Given the description of an element on the screen output the (x, y) to click on. 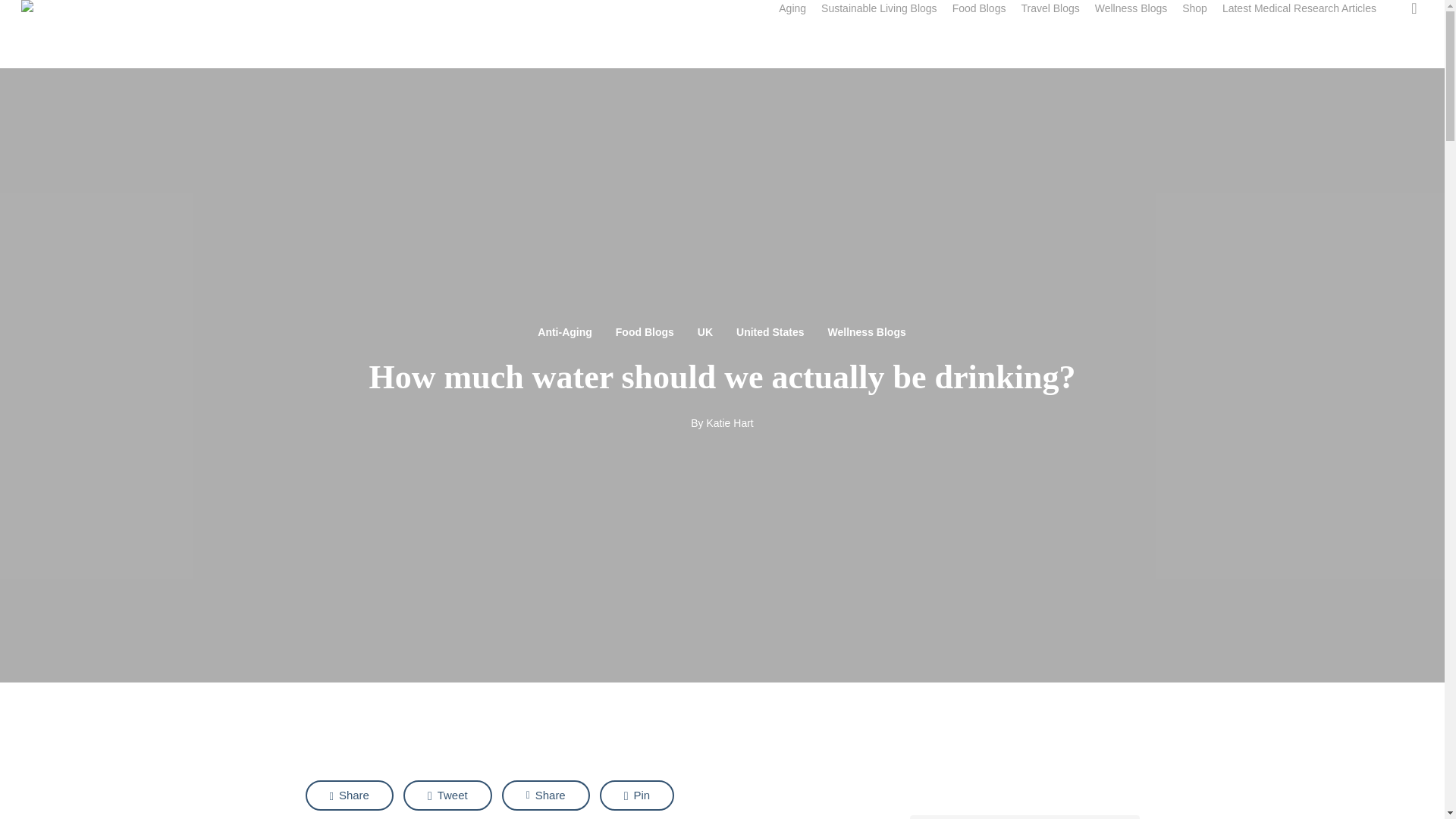
Food Blogs (644, 331)
Travel Blogs (1049, 7)
Shop (1194, 7)
Share this (545, 795)
Pin (636, 795)
Tweet (447, 795)
United States (769, 331)
Posts by Katie Hart (729, 422)
Pin this (636, 795)
Tweet this (447, 795)
